Given the description of an element on the screen output the (x, y) to click on. 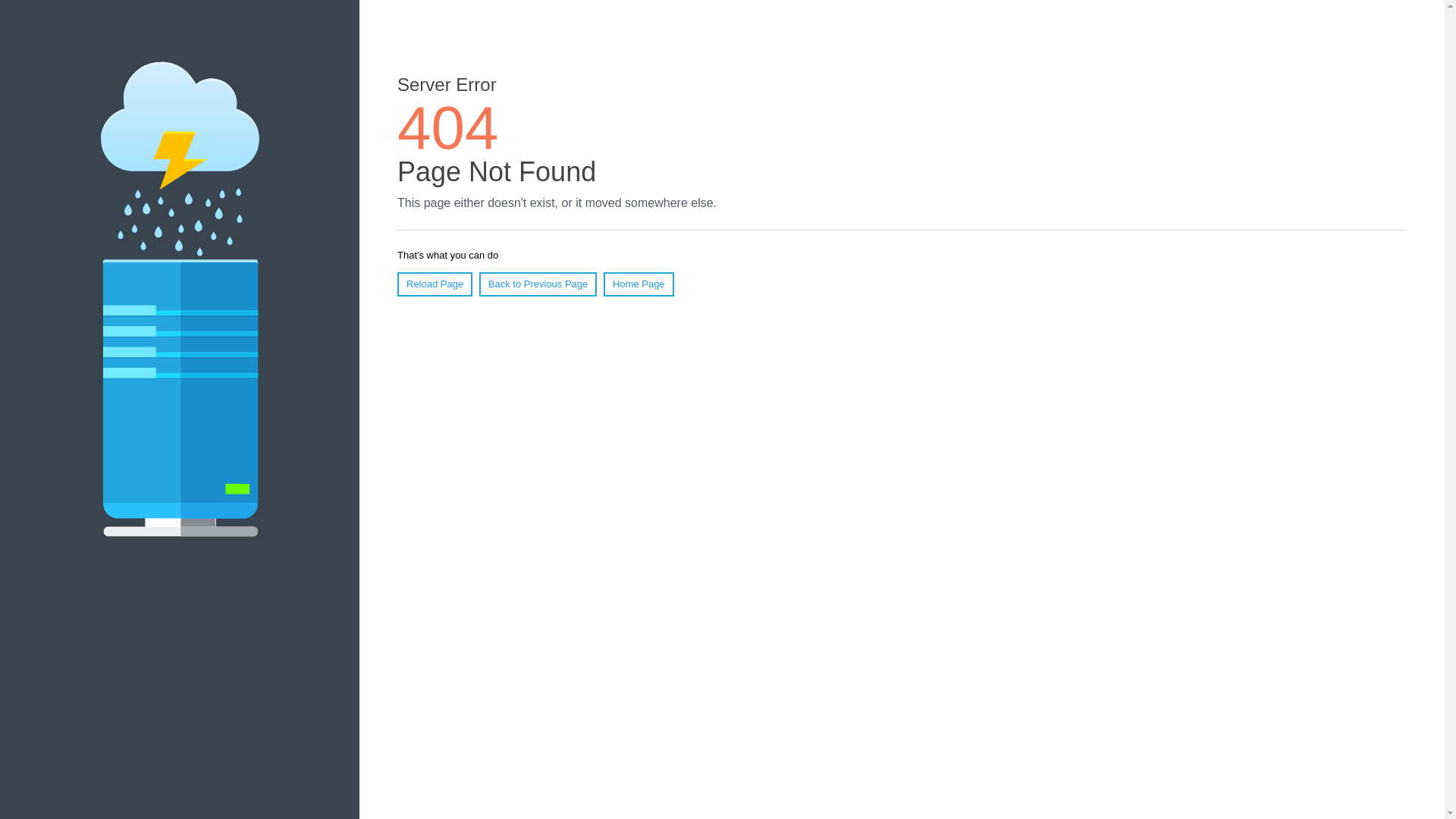
Reload Page Element type: text (434, 284)
Back to Previous Page Element type: text (538, 284)
Home Page Element type: text (638, 284)
